Given the description of an element on the screen output the (x, y) to click on. 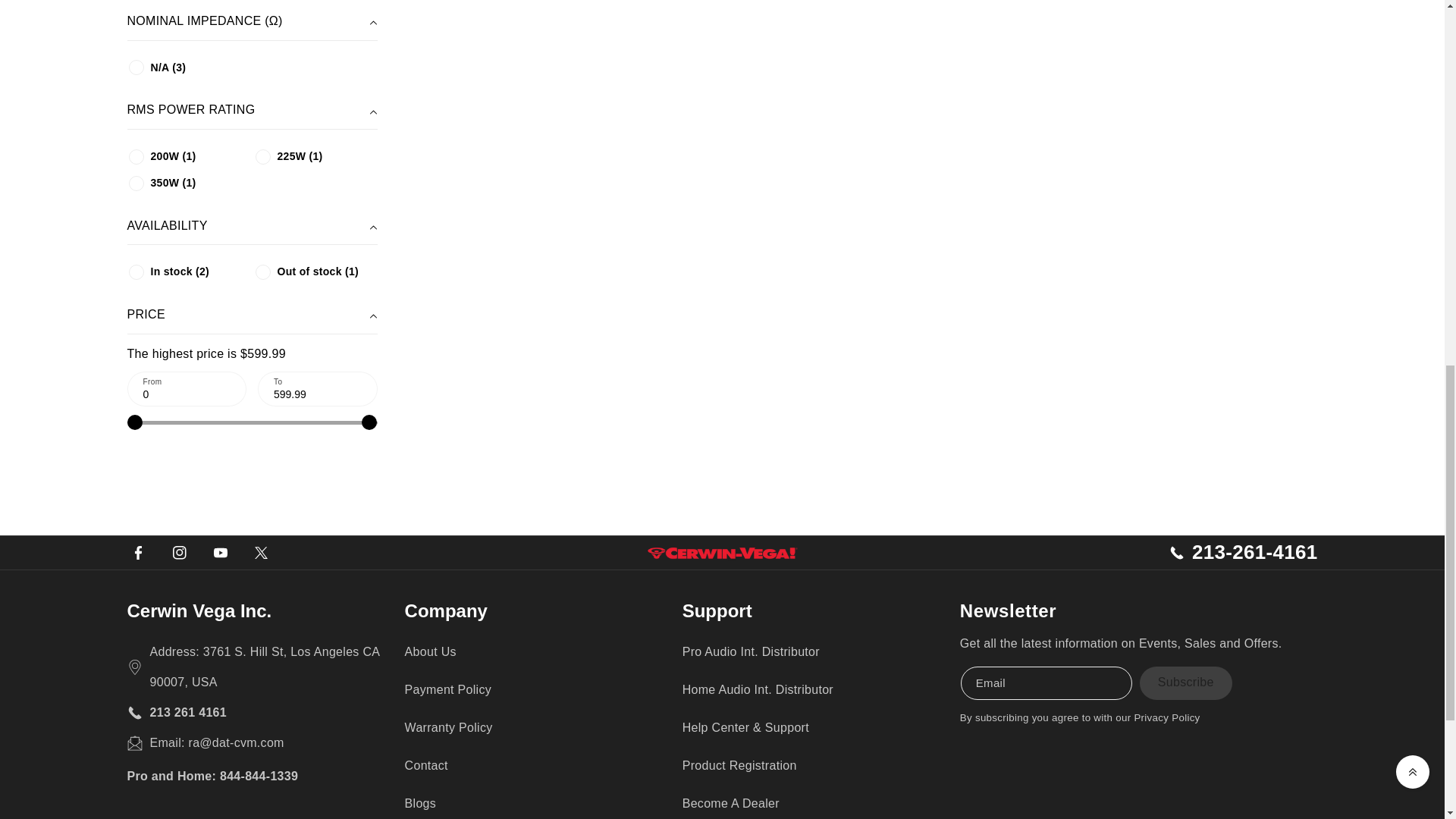
0 (261, 272)
225W (261, 156)
1 (136, 272)
599 (252, 422)
0 (187, 388)
599.99 (318, 388)
INTENSE Series 18" V2 Subwoofer - INT-118SV2 (858, 78)
200W (136, 156)
